Given the description of an element on the screen output the (x, y) to click on. 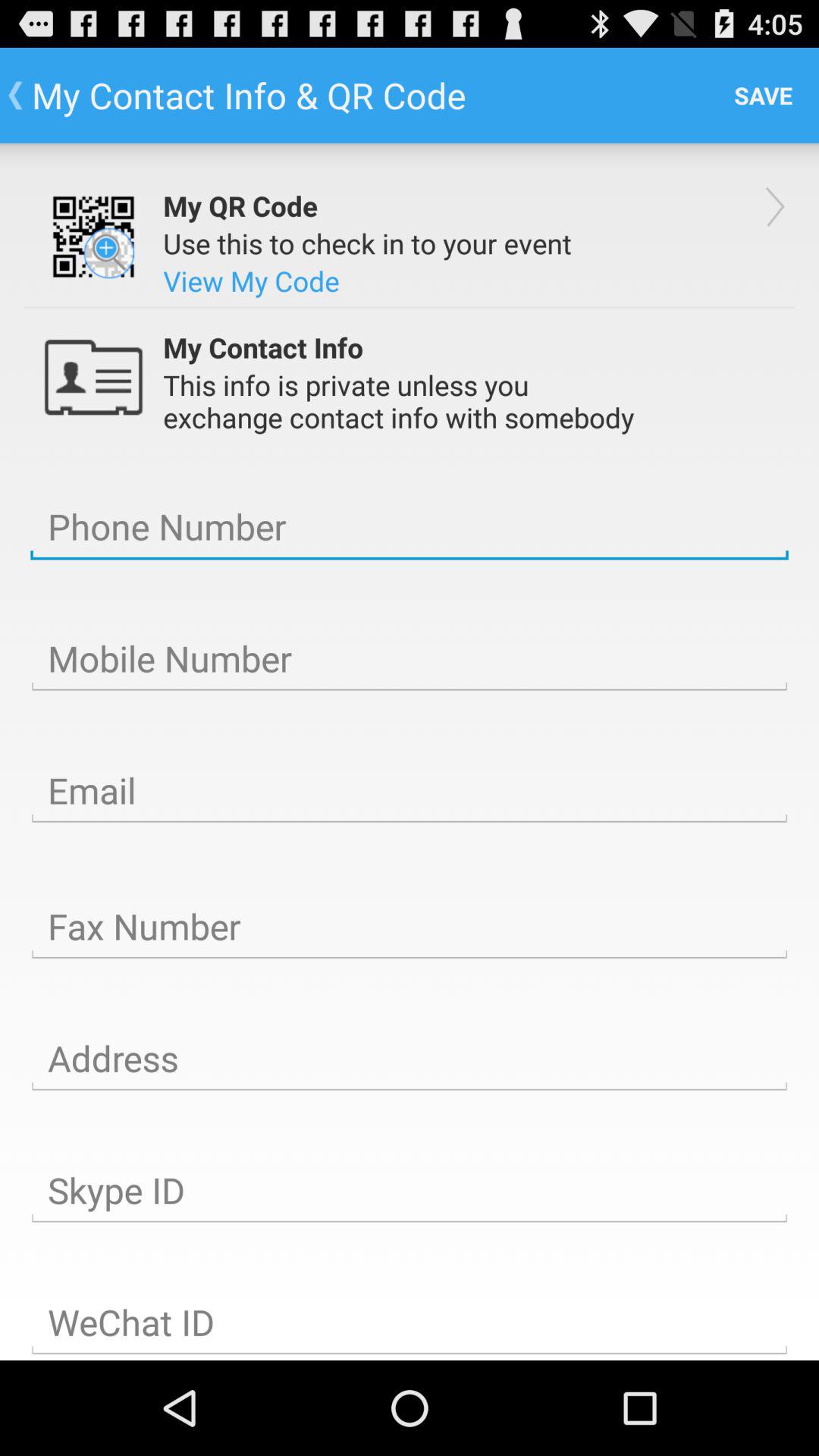
enter fax number (409, 926)
